Given the description of an element on the screen output the (x, y) to click on. 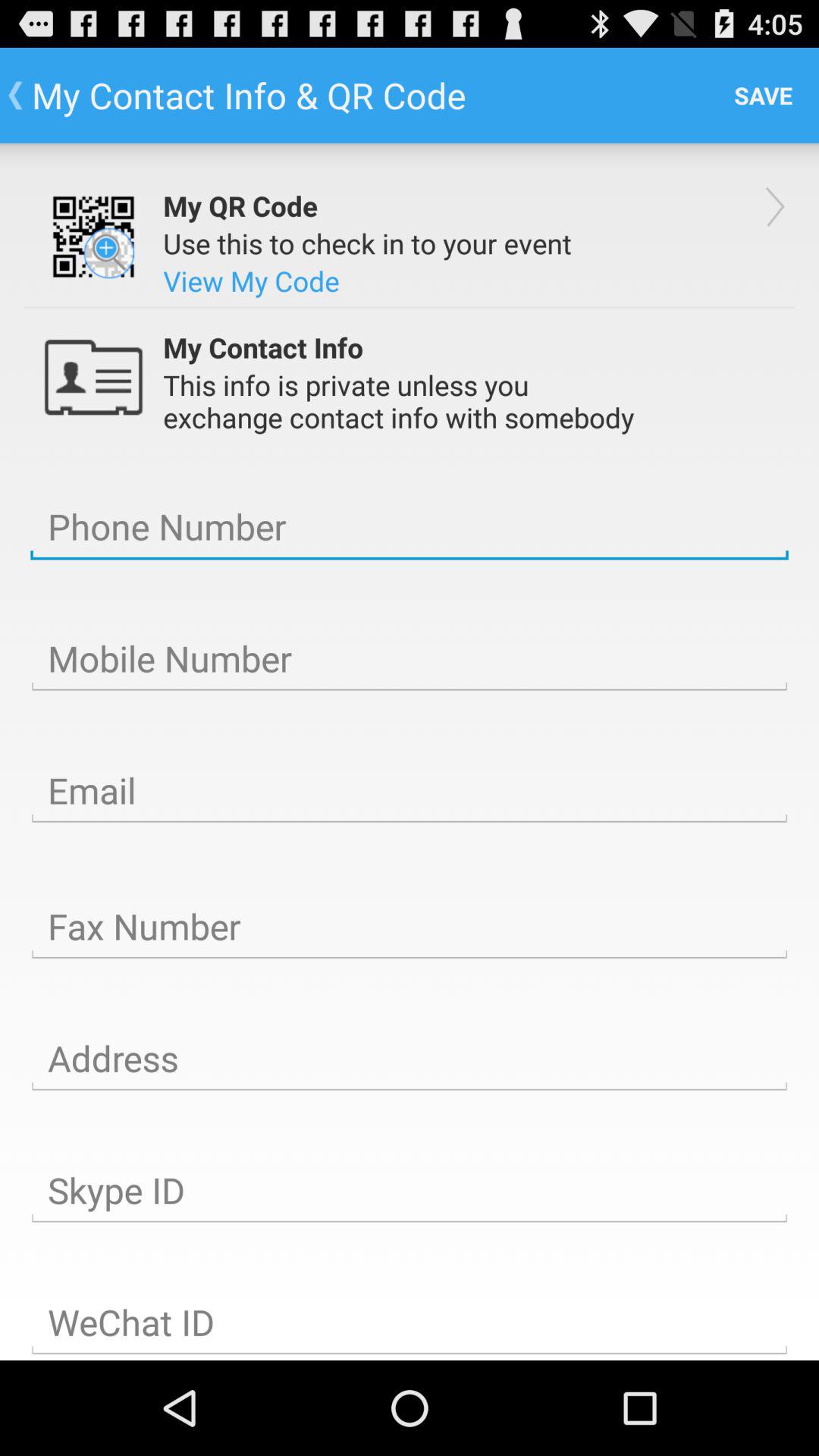
enter fax number (409, 926)
